Given the description of an element on the screen output the (x, y) to click on. 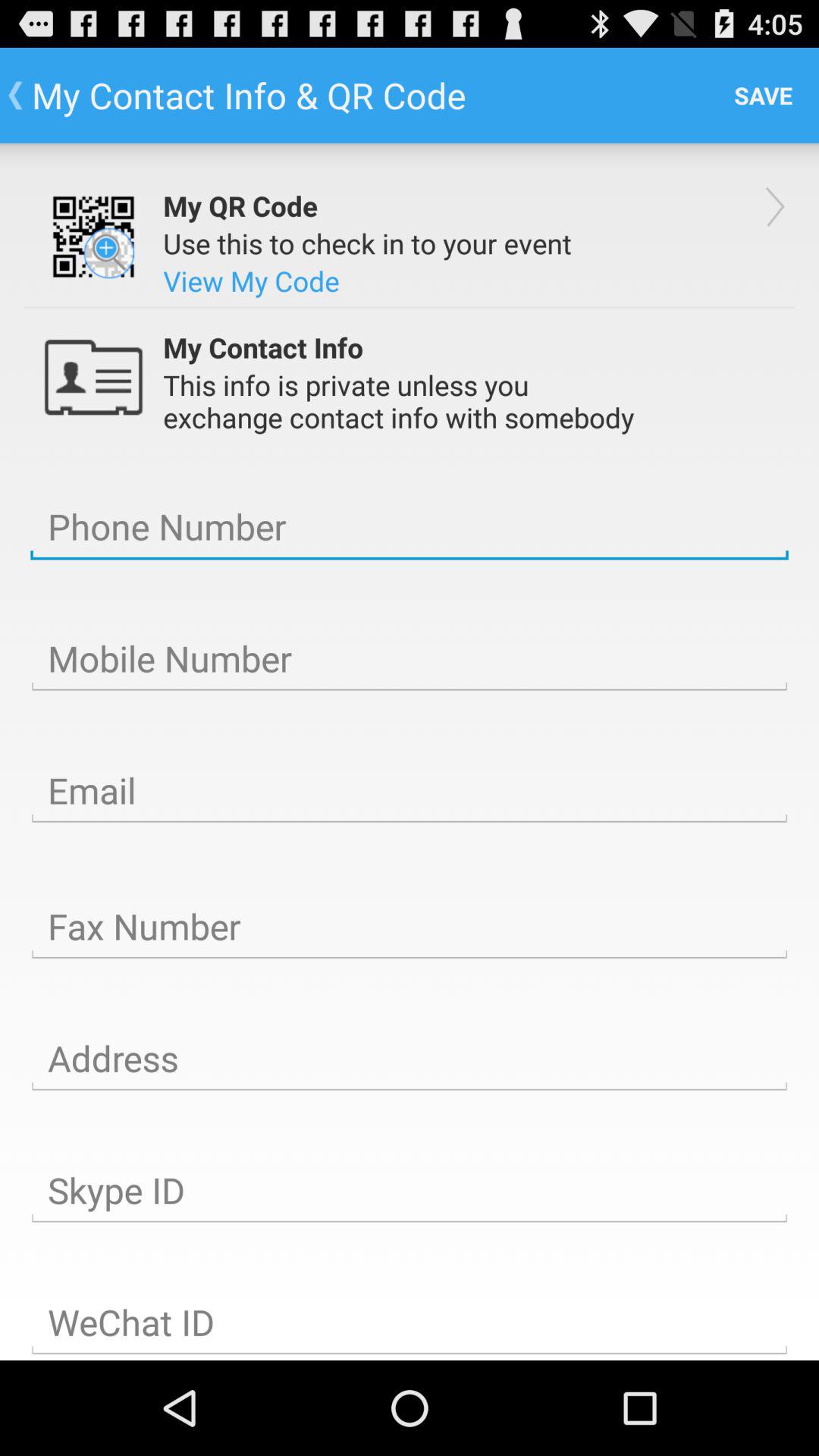
enter fax number (409, 926)
